Given the description of an element on the screen output the (x, y) to click on. 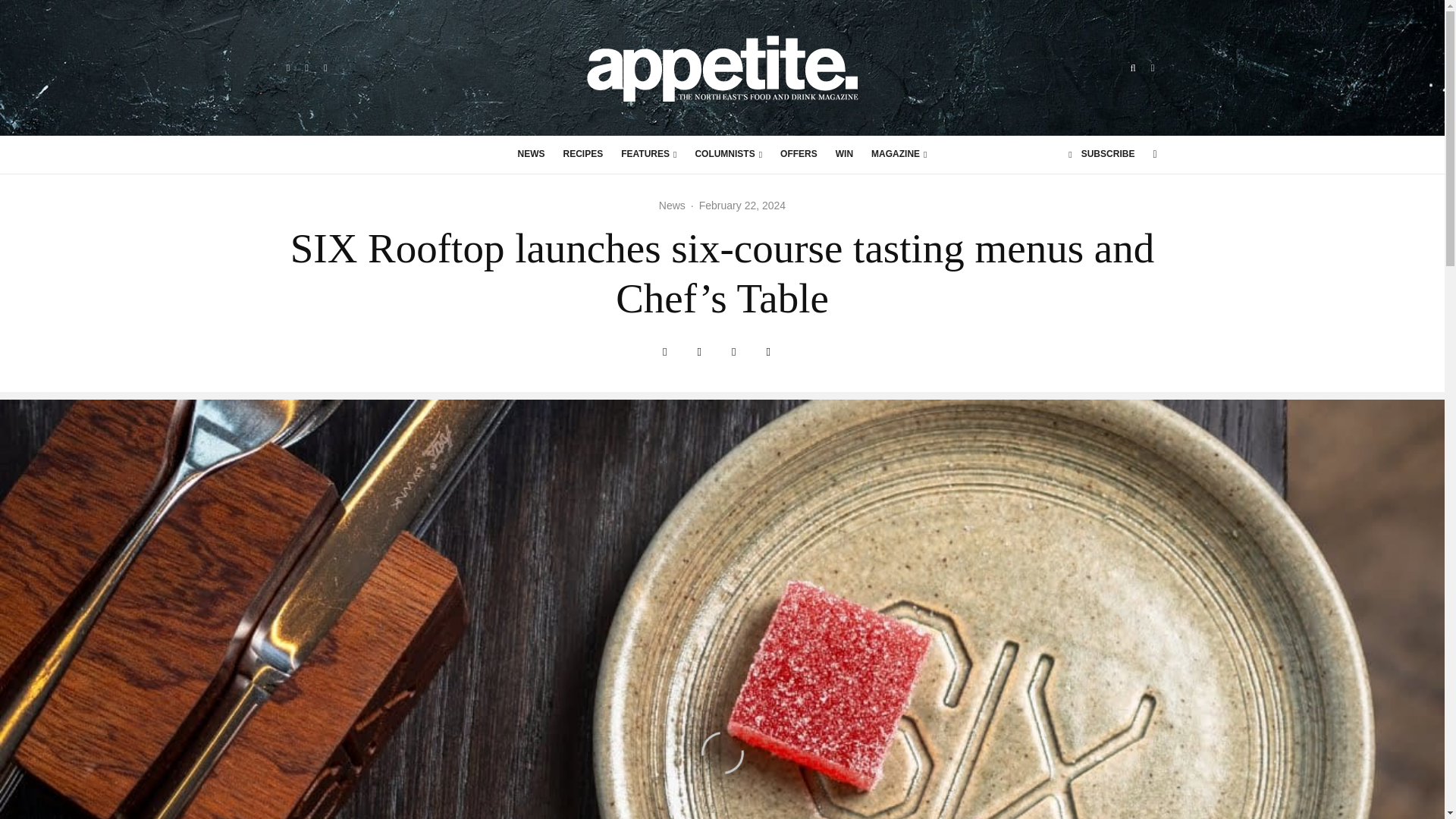
FEATURES (648, 154)
NEWS (531, 154)
RECIPES (583, 154)
